Given the description of an element on the screen output the (x, y) to click on. 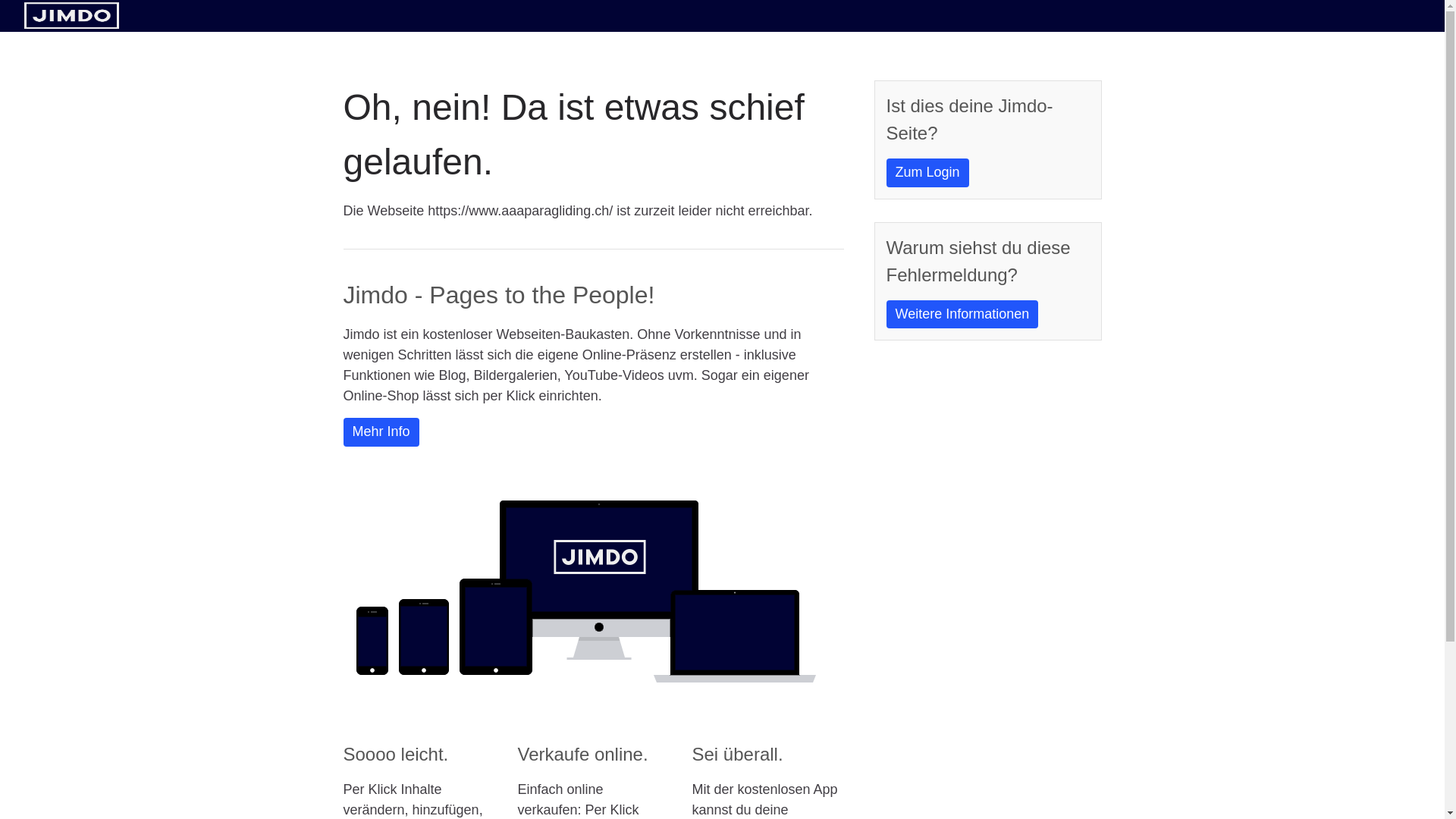
Weitere Informationen Element type: text (961, 314)
Mehr Info Element type: text (380, 431)
Zum Login Element type: text (926, 172)
